Given the description of an element on the screen output the (x, y) to click on. 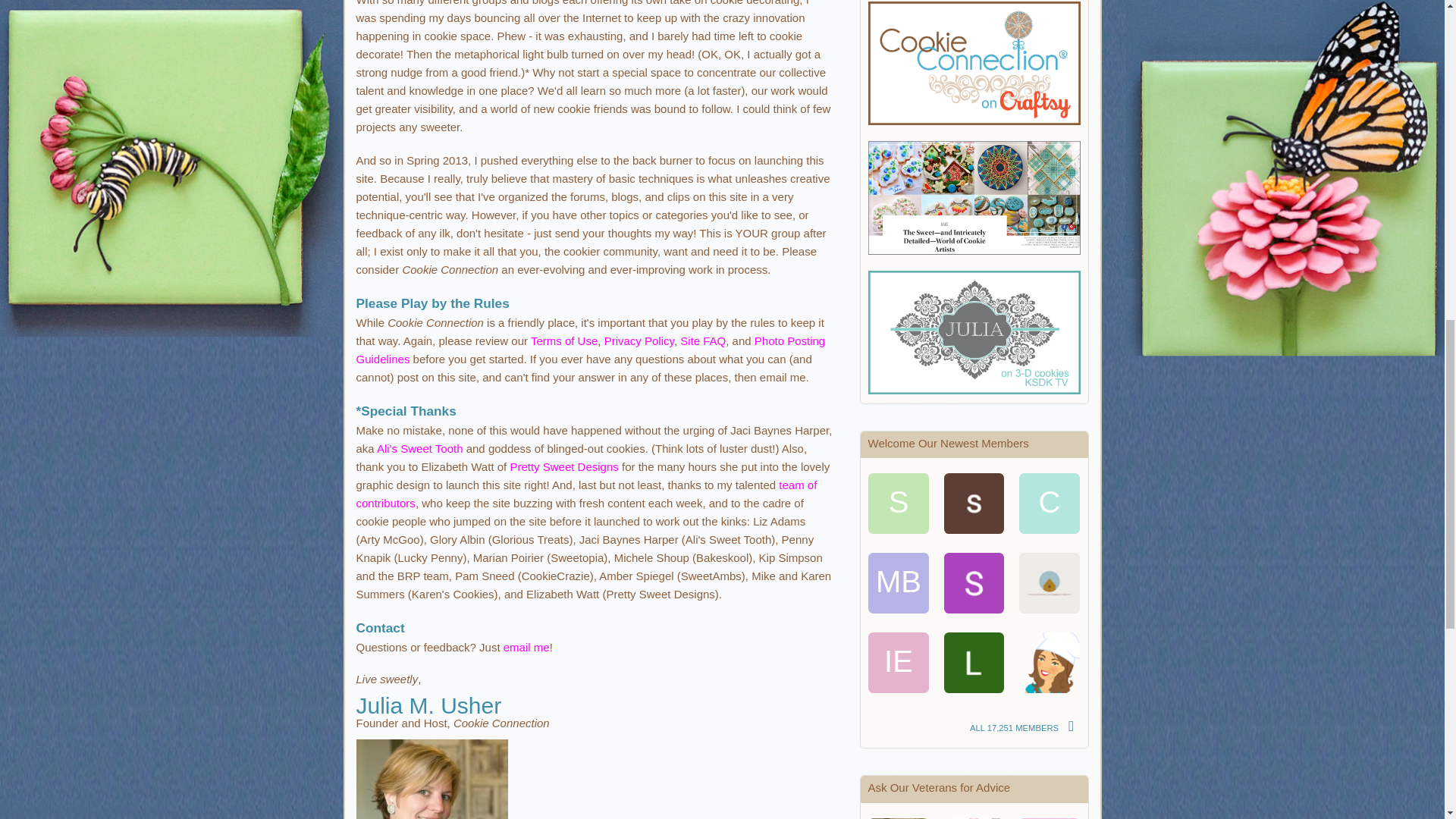
Evelindecora (1049, 818)
Lyly (973, 662)
Dkbh4 (1049, 662)
sophia2005 (897, 505)
ChristyHaze (1049, 505)
Teri Pringle Wood (973, 818)
Jaci's Facebook Page (418, 448)
Julia M. Usher (897, 818)
MB (897, 582)
etocakes (1049, 582)
